Given the description of an element on the screen output the (x, y) to click on. 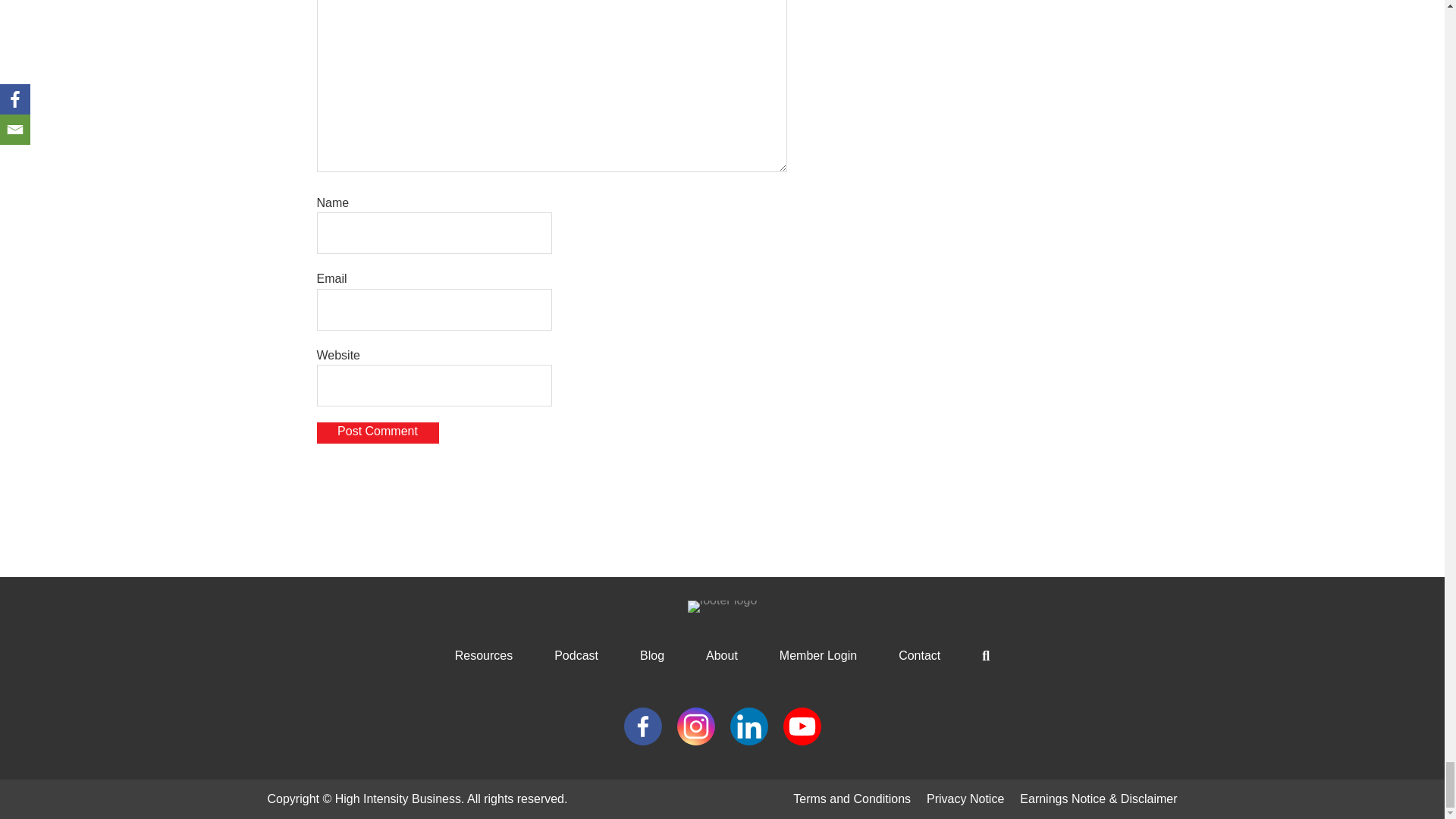
Facebook (642, 726)
Linkedin (748, 726)
footer logo (722, 606)
Post Comment (378, 432)
Youtubechannel (802, 726)
Post Comment (378, 432)
Instagram (695, 726)
